Given the description of an element on the screen output the (x, y) to click on. 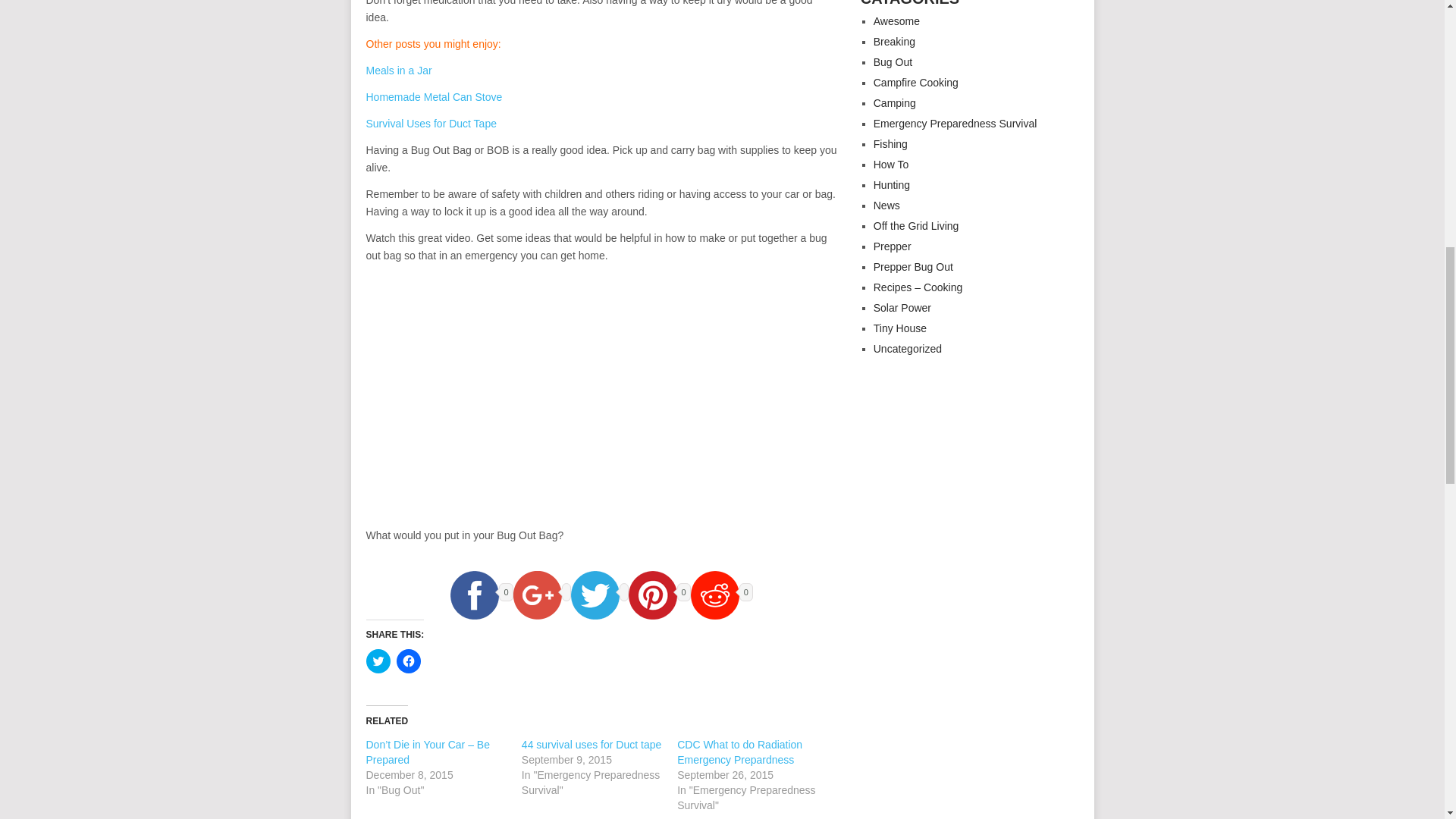
Survival Uses for Duct Tape (430, 123)
google (537, 594)
twitter (595, 594)
reddit (714, 594)
Homemade Metal Can Stove (433, 96)
44 survival uses for Duct tape (591, 744)
pinterest (652, 594)
Meals in a Jar (397, 70)
facebook (474, 594)
CDC What to do Radiation Emergency Prepardness (739, 751)
